Given the description of an element on the screen output the (x, y) to click on. 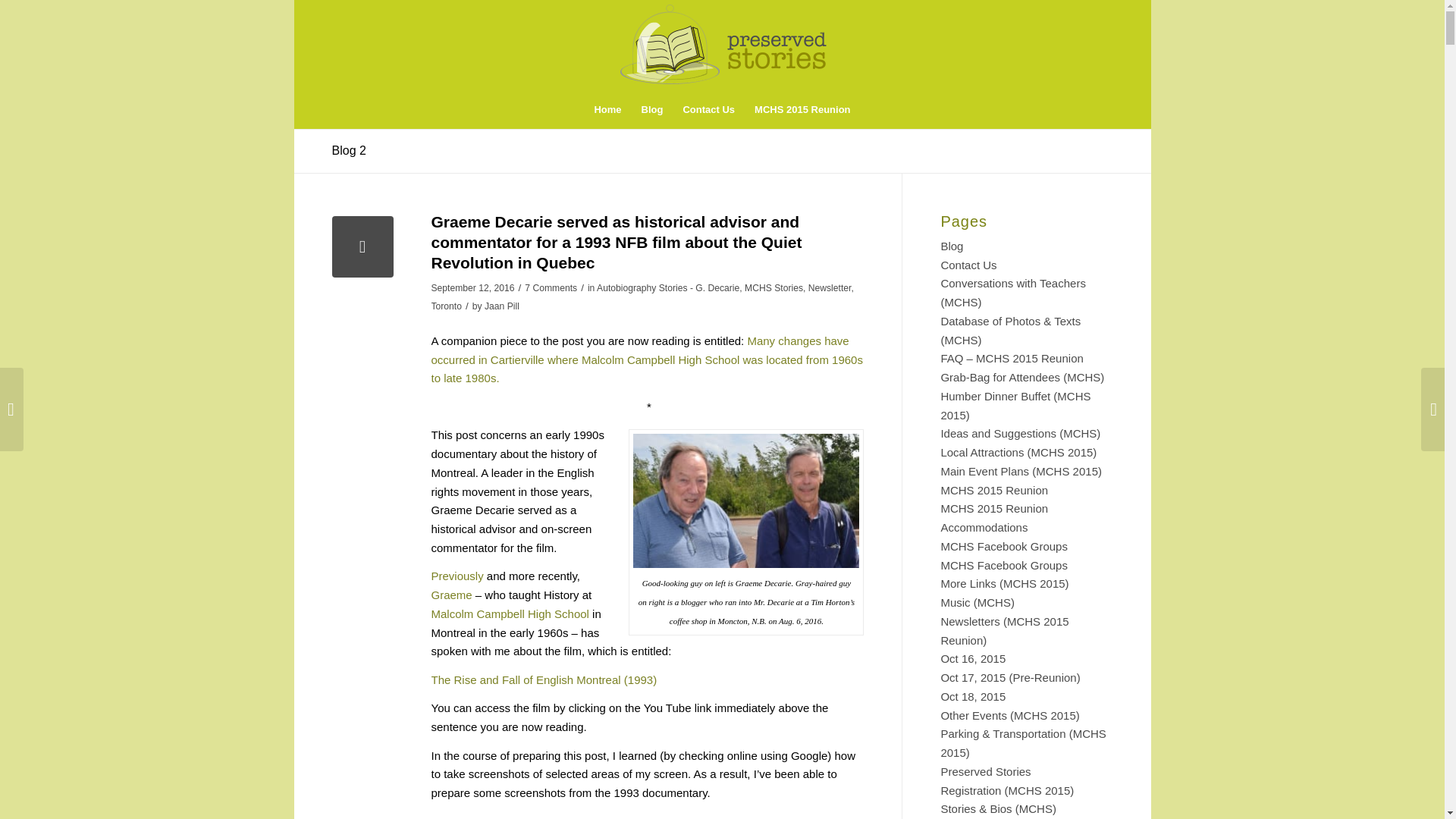
Toronto (445, 306)
Preserved-Stories-logo-horizontal (722, 42)
Graeme (450, 594)
Newsletter (829, 287)
Autobiography Stories - G. Decarie (667, 287)
Home (606, 109)
Blog (651, 109)
MCHS Stories (773, 287)
Jaan Pill (501, 306)
7 Comments (550, 287)
Posts by Jaan Pill (501, 306)
Previously (456, 575)
Permanent Link: Blog 2 (348, 150)
Malcolm Campbell High School (509, 613)
